Given the description of an element on the screen output the (x, y) to click on. 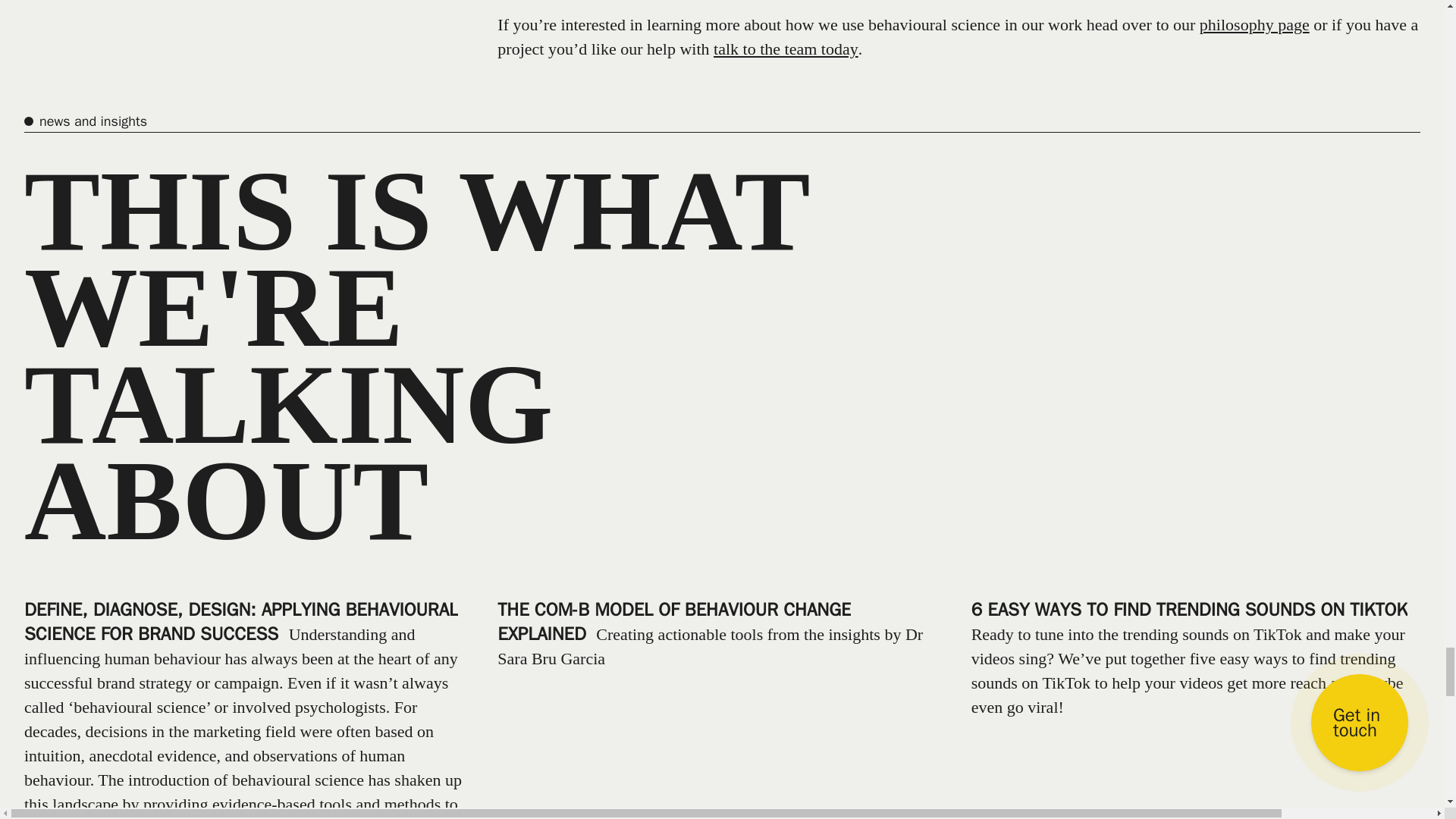
philosophy page (1253, 24)
talk to the team today (786, 48)
